Given the description of an element on the screen output the (x, y) to click on. 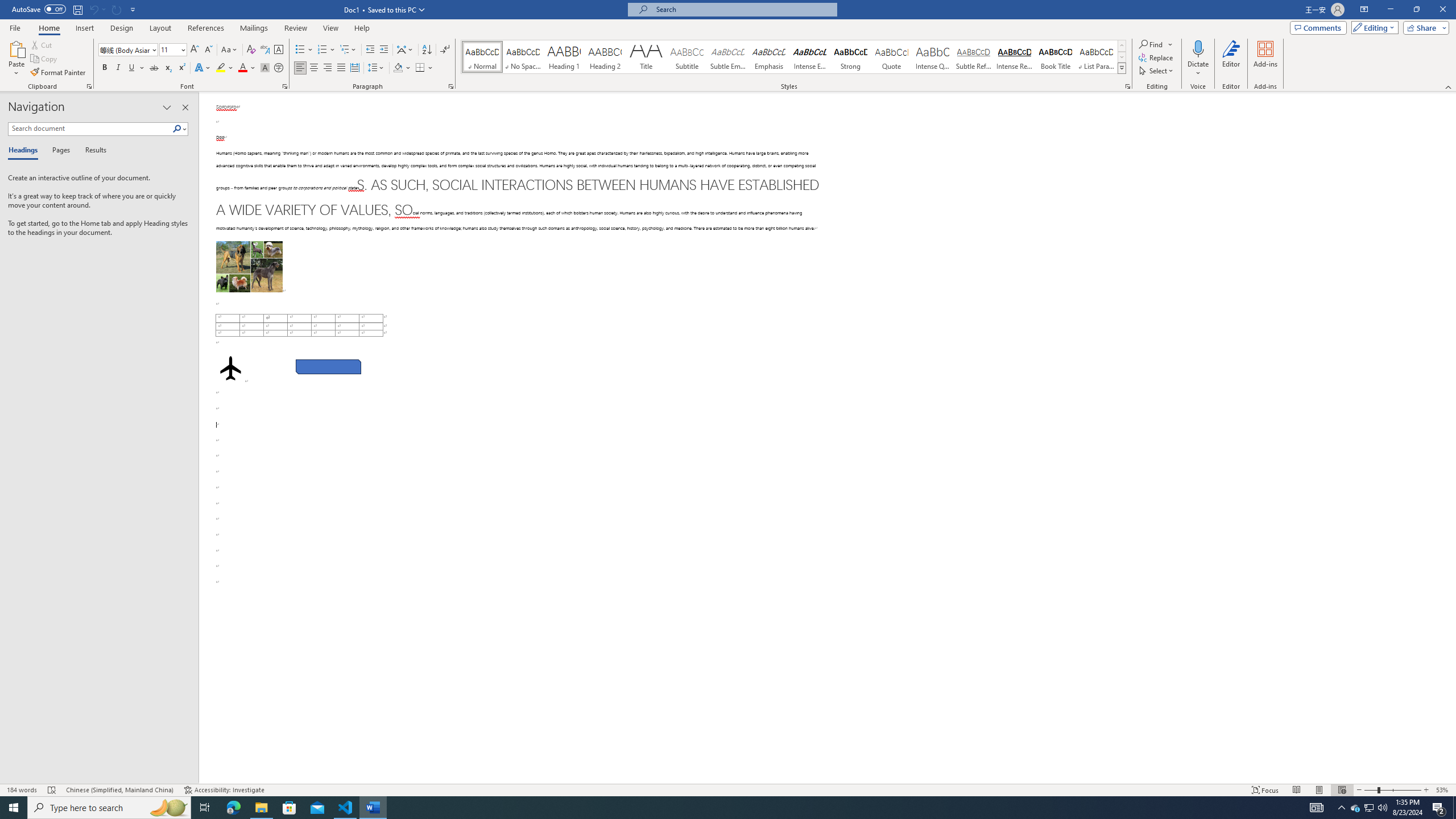
Quote (891, 56)
